Given the description of an element on the screen output the (x, y) to click on. 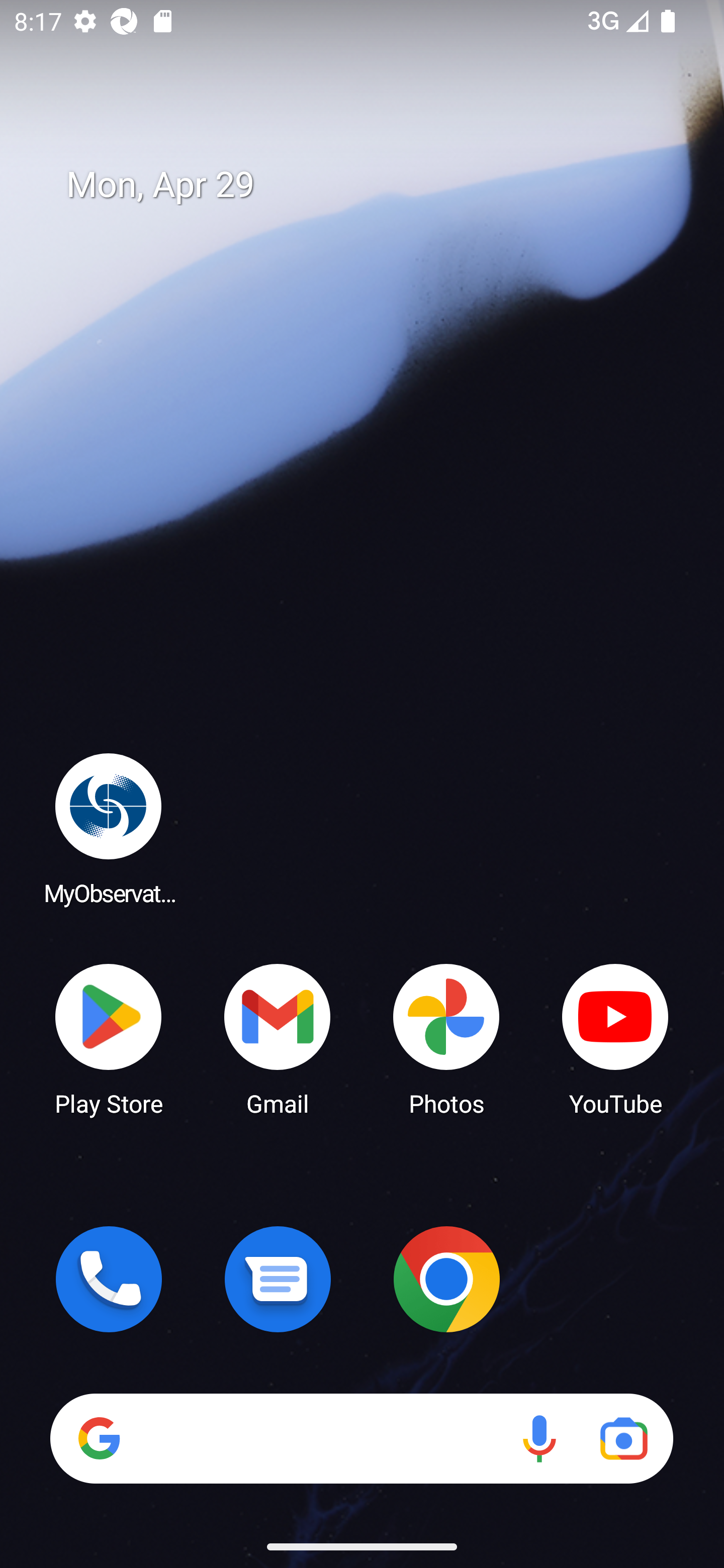
Mon, Apr 29 (375, 184)
MyObservatory (108, 828)
Play Store (108, 1038)
Gmail (277, 1038)
Photos (445, 1038)
YouTube (615, 1038)
Phone (108, 1279)
Messages (277, 1279)
Chrome (446, 1279)
Voice search (539, 1438)
Google Lens (623, 1438)
